Given the description of an element on the screen output the (x, y) to click on. 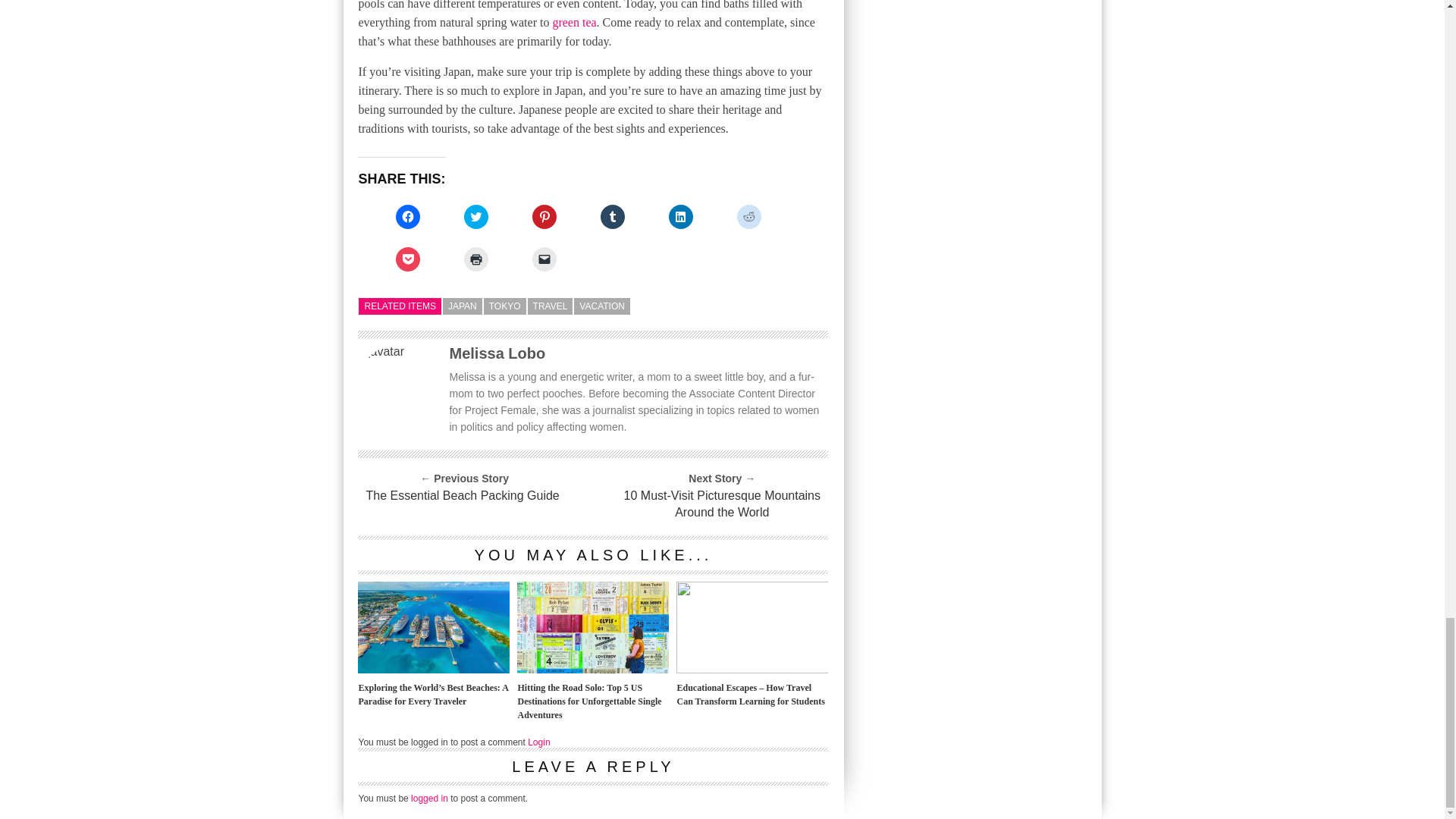
Click to share on Reddit (748, 216)
Click to share on LinkedIn (680, 216)
Click to share on Tumblr (611, 216)
Click to share on Pocket (408, 259)
Click to share on Twitter (475, 216)
Click to print (475, 259)
Click to share on Facebook (408, 216)
Click to share on Pinterest (544, 216)
